Given the description of an element on the screen output the (x, y) to click on. 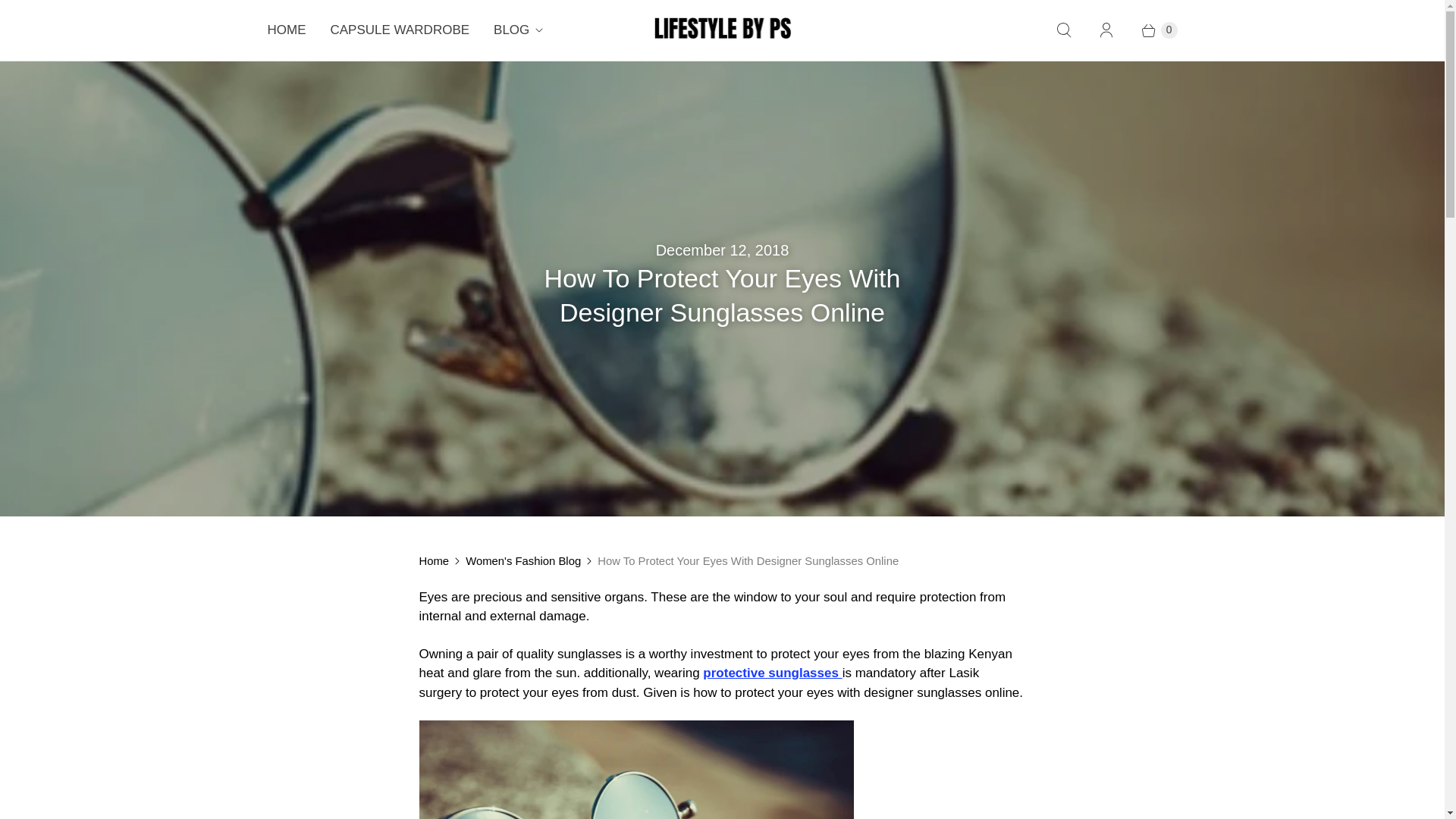
Home (433, 560)
CAPSULE WARDROBE (399, 30)
0 (1151, 30)
protective sunglasses (772, 672)
HOME (285, 30)
Women's Fashion Blog (522, 560)
